Given the description of an element on the screen output the (x, y) to click on. 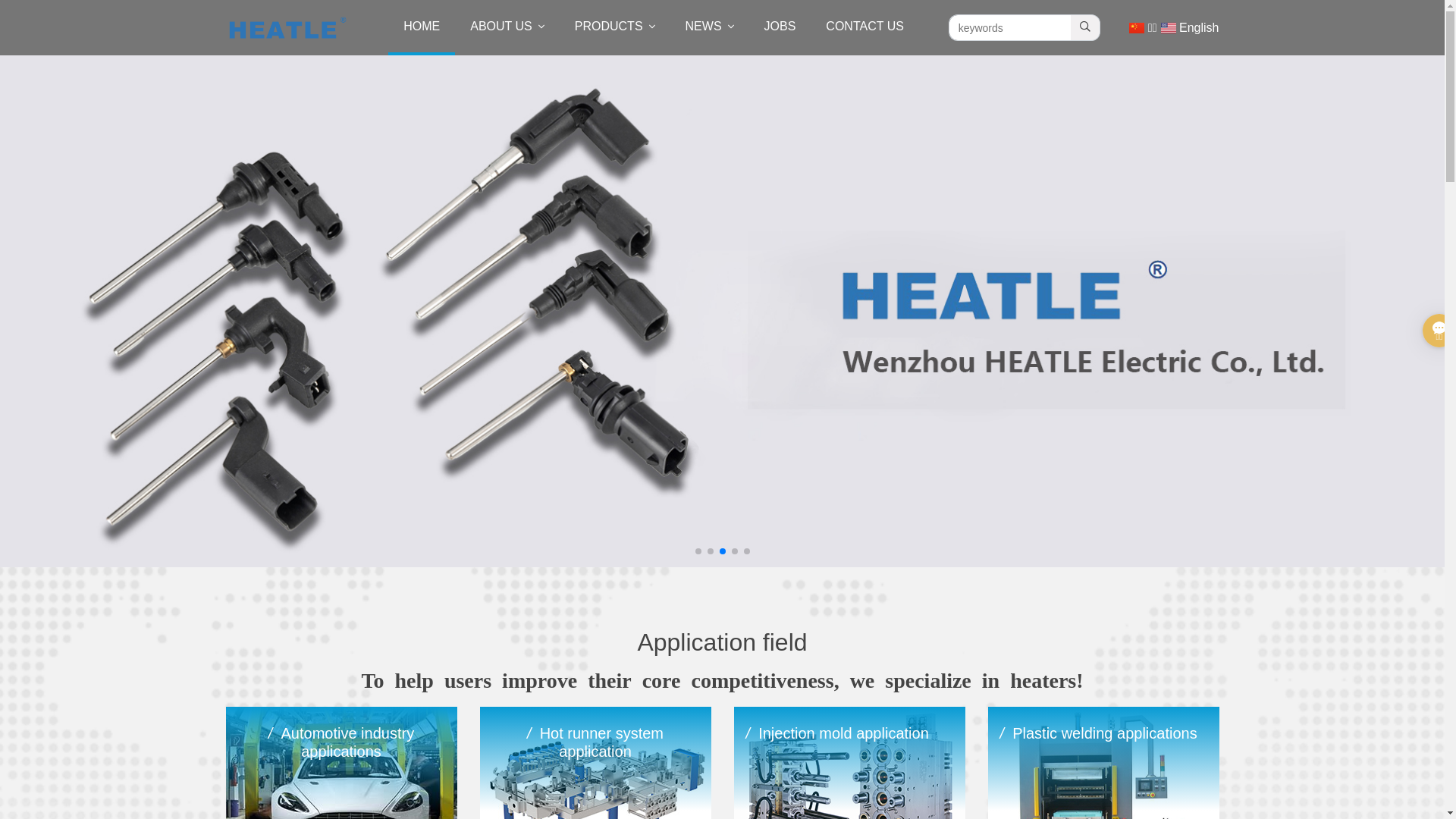
CONTACT US Element type: text (864, 27)
HOME Element type: text (421, 27)
ABOUT US Element type: text (507, 27)
JOBS Element type: text (780, 27)
PRODUCTS Element type: text (614, 27)
English Element type: text (1190, 27)
NEWS Element type: text (709, 27)
